Given the description of an element on the screen output the (x, y) to click on. 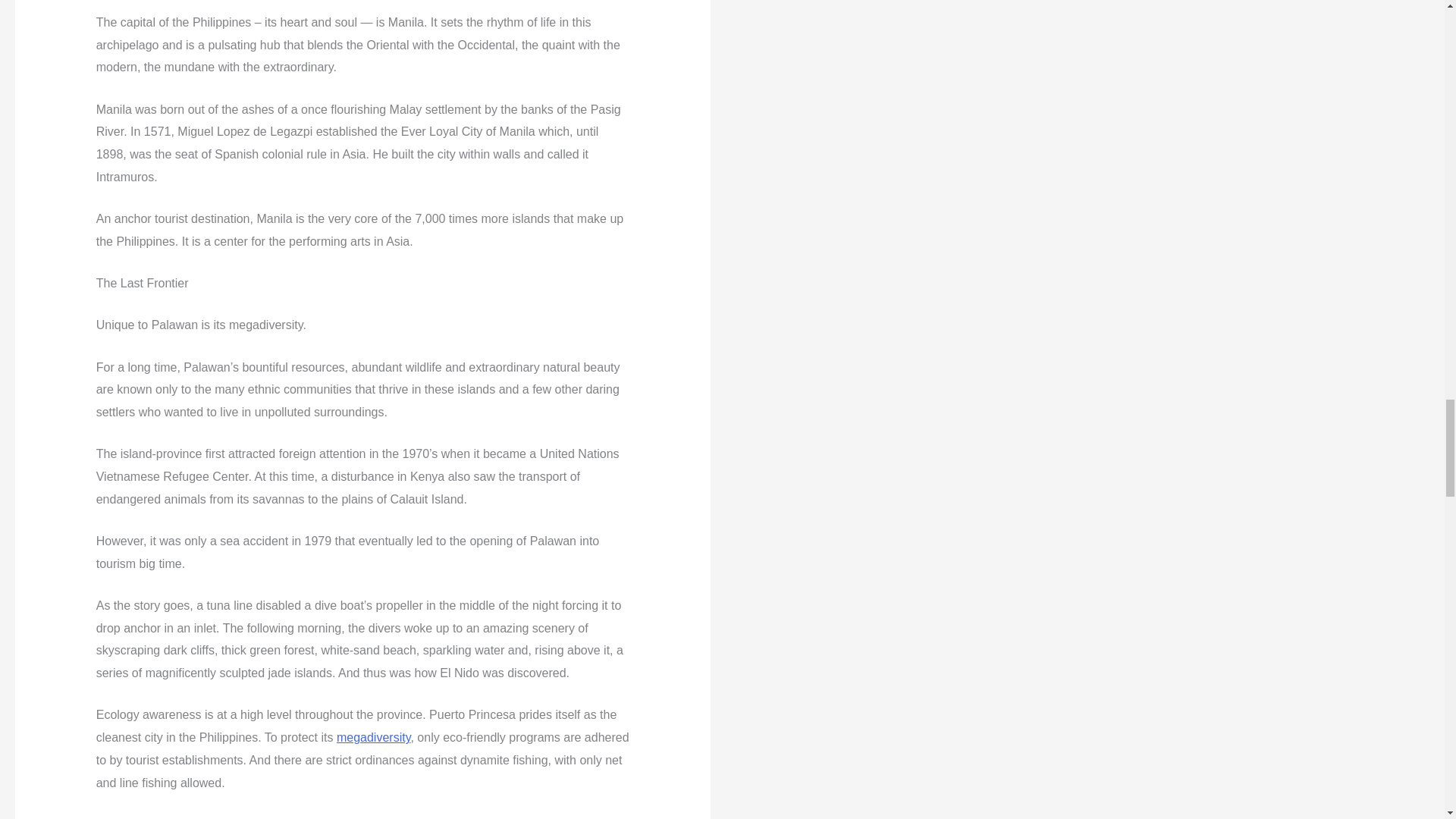
megadiversity (373, 737)
